Given the description of an element on the screen output the (x, y) to click on. 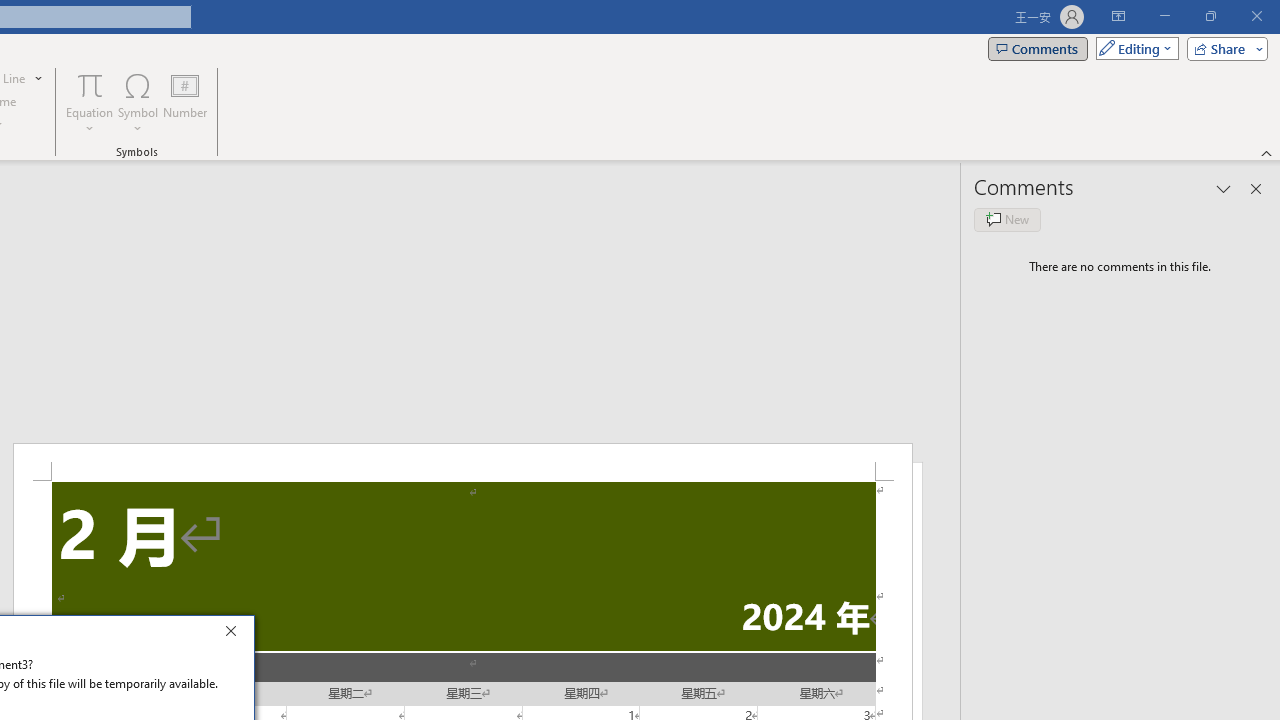
Close pane (1256, 188)
Header -Section 2- (462, 461)
Restore Down (1210, 16)
Task Pane Options (1224, 188)
Symbol (138, 102)
Equation (90, 84)
Collapse the Ribbon (1267, 152)
New comment (1007, 219)
Comments (1038, 48)
Ribbon Display Options (1118, 16)
Equation (90, 102)
Minimize (1164, 16)
